Given the description of an element on the screen output the (x, y) to click on. 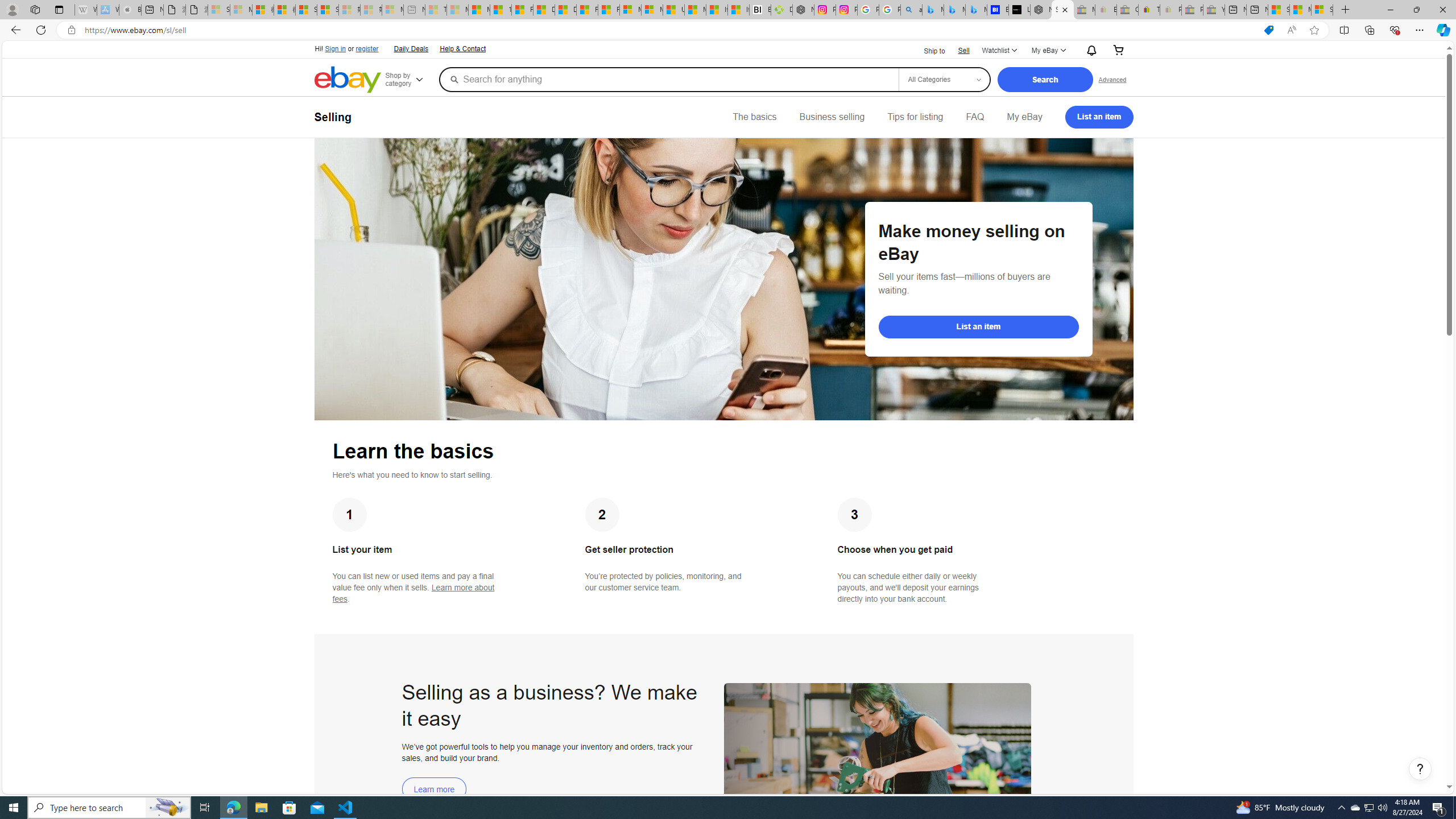
Wikipedia - Sleeping (85, 9)
Your shopping cart (1118, 50)
Nordace - Nordace Edin Collection (802, 9)
register (366, 49)
Marine life - MSN - Sleeping (457, 9)
My eBay (1024, 116)
FAQ (974, 116)
Expand Cart (1118, 50)
Drinking tea every day is proven to delay biological aging (565, 9)
